Given the description of an element on the screen output the (x, y) to click on. 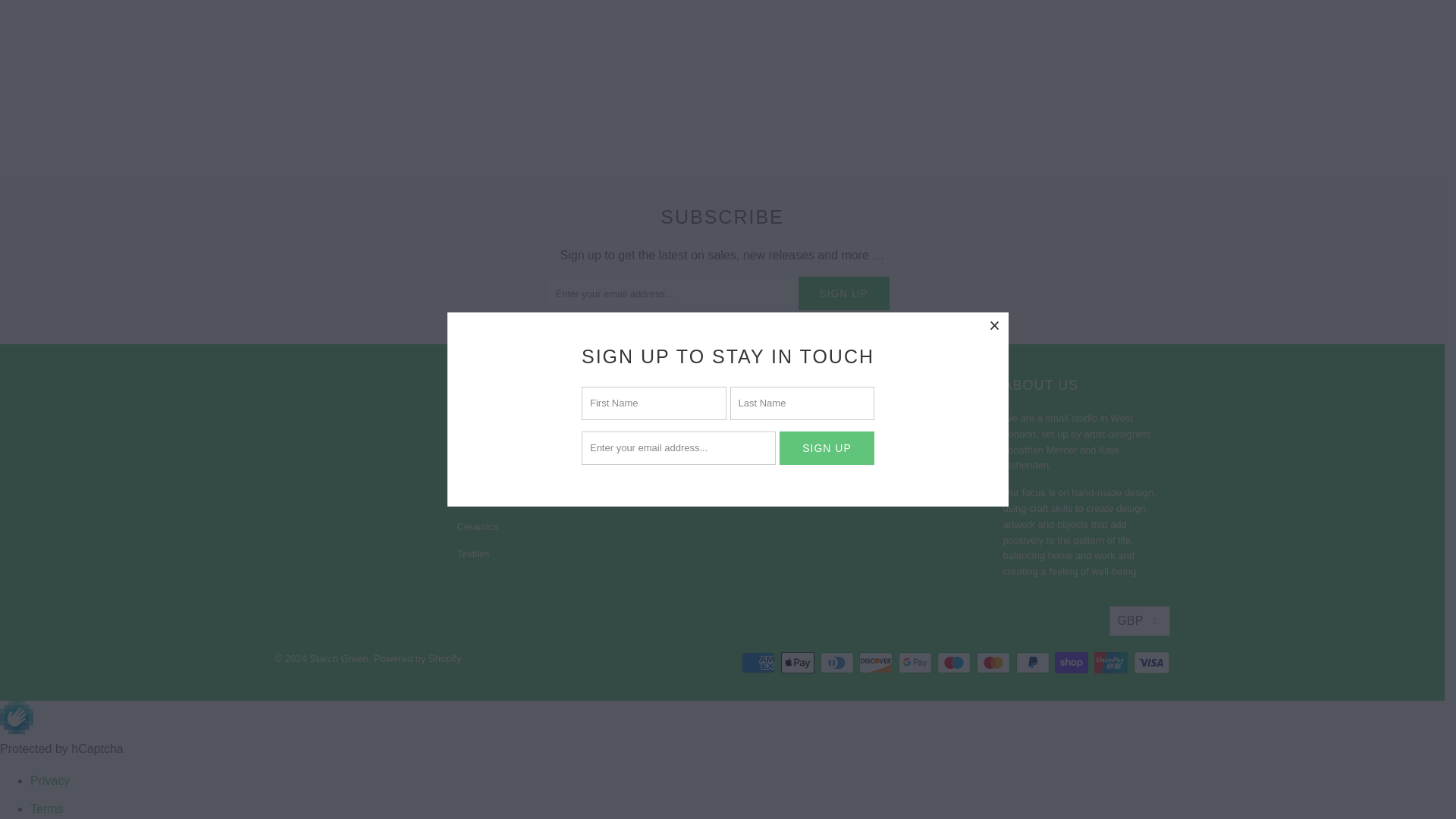
Google Pay (916, 662)
Discover (877, 662)
Apple Pay (798, 662)
Diners Club (839, 662)
Visa (1150, 662)
Maestro (955, 662)
American Express (759, 662)
Union Pay (1112, 662)
Mastercard (994, 662)
PayPal (1034, 662)
Shop Pay (1072, 662)
